Given the description of an element on the screen output the (x, y) to click on. 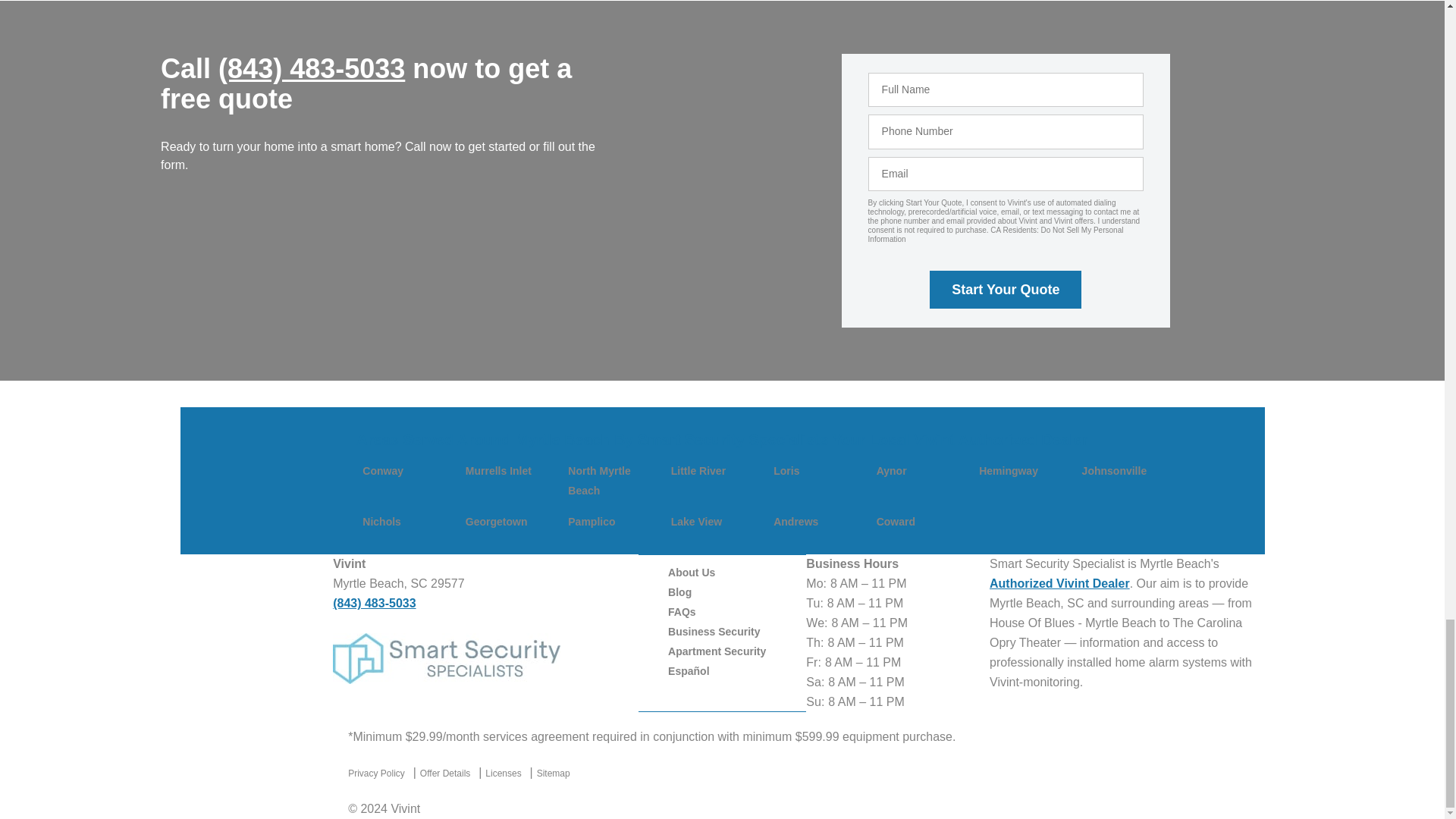
Start Your Quote (1005, 289)
Start Your Quote (1005, 289)
